Given the description of an element on the screen output the (x, y) to click on. 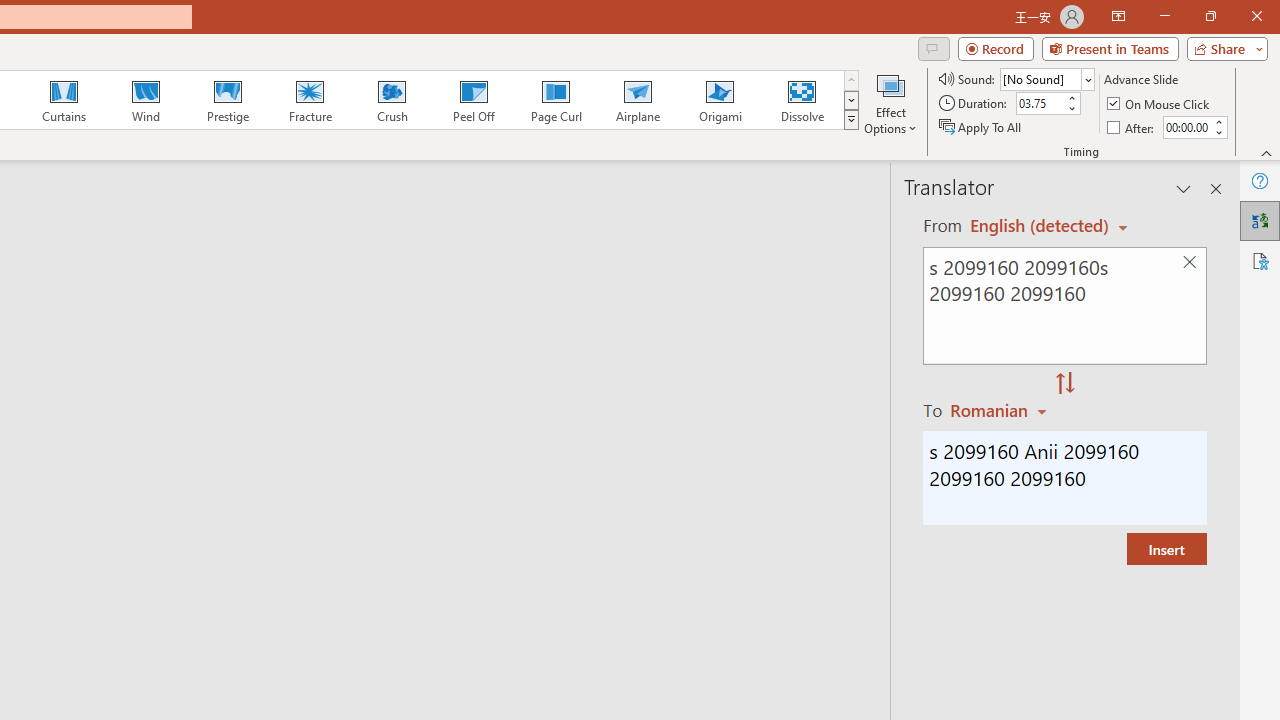
Apply To All (981, 126)
Airplane (637, 100)
On Mouse Click (1159, 103)
Page Curl (555, 100)
Curtains (63, 100)
Clear text (1189, 262)
Peel Off (473, 100)
